Given the description of an element on the screen output the (x, y) to click on. 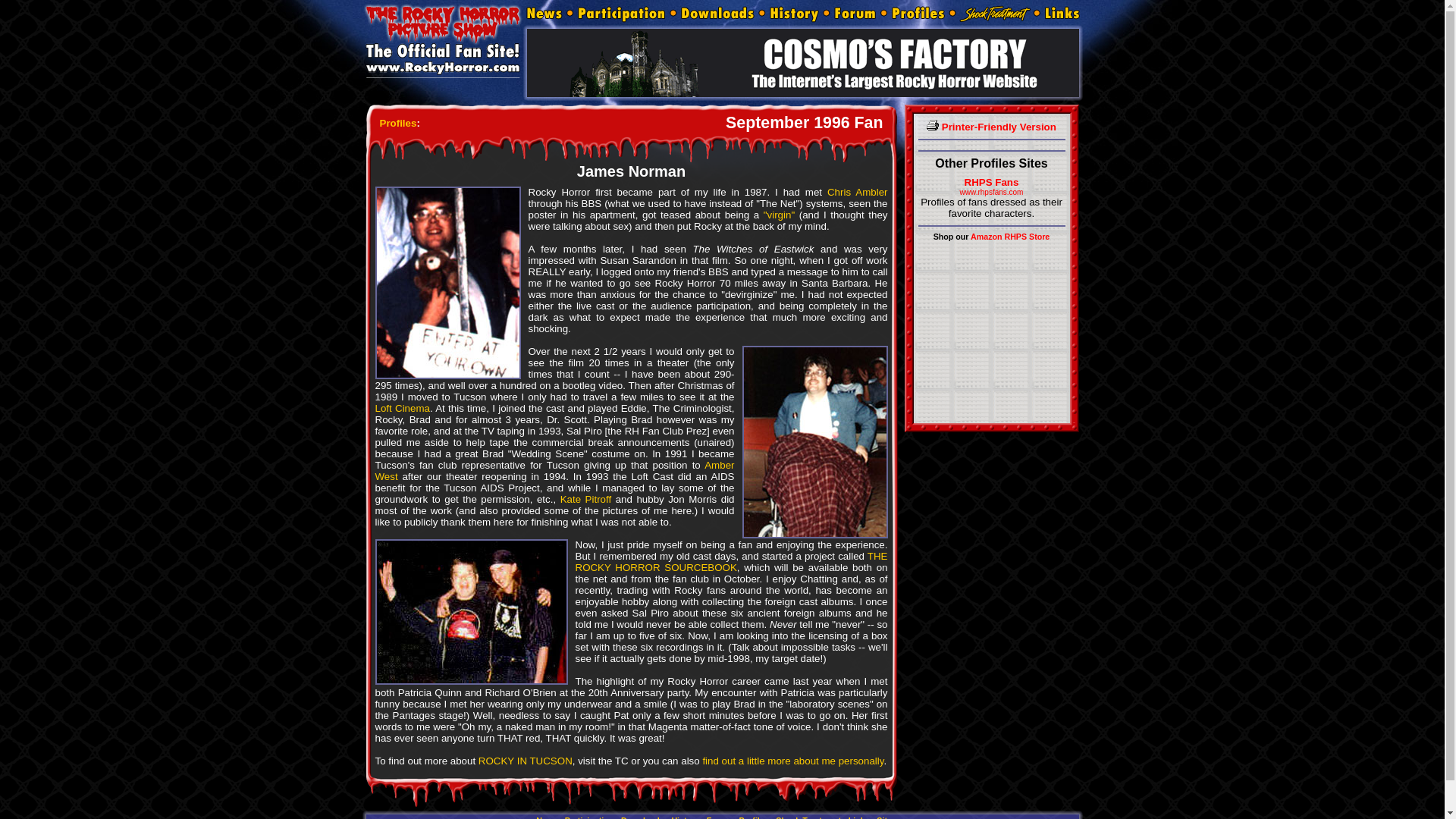
Participation (621, 13)
Participation (589, 817)
Loft Cinema (401, 408)
Profiles (753, 817)
Amber West (553, 470)
History (684, 817)
Links (1059, 13)
The Rocky Horror Picture Show: The Official Fan Site! (442, 39)
News (546, 817)
Forum (855, 13)
Sitemap (891, 817)
Cosmo's Factory (801, 62)
Shock Treatment (994, 13)
Shock Treatment (808, 817)
